Given the description of an element on the screen output the (x, y) to click on. 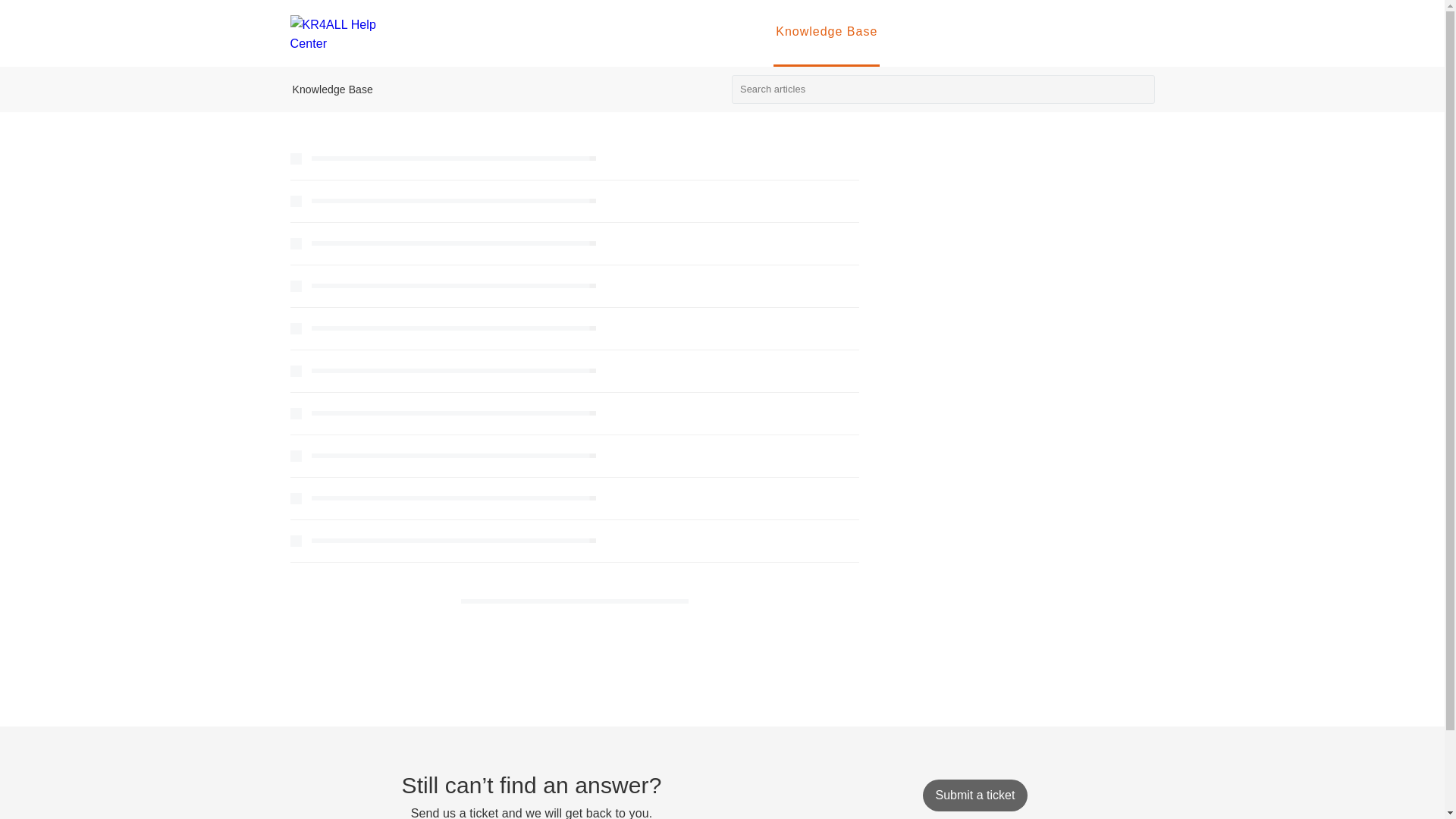
Submit a ticket (974, 795)
Submit a ticket (974, 794)
Sign Up (996, 31)
KR4ALL Help Center (514, 33)
Knowledge Base (332, 89)
English (1118, 31)
Home (657, 31)
Sign In (924, 31)
My Area (725, 31)
Knowledge Base (826, 33)
